Given the description of an element on the screen output the (x, y) to click on. 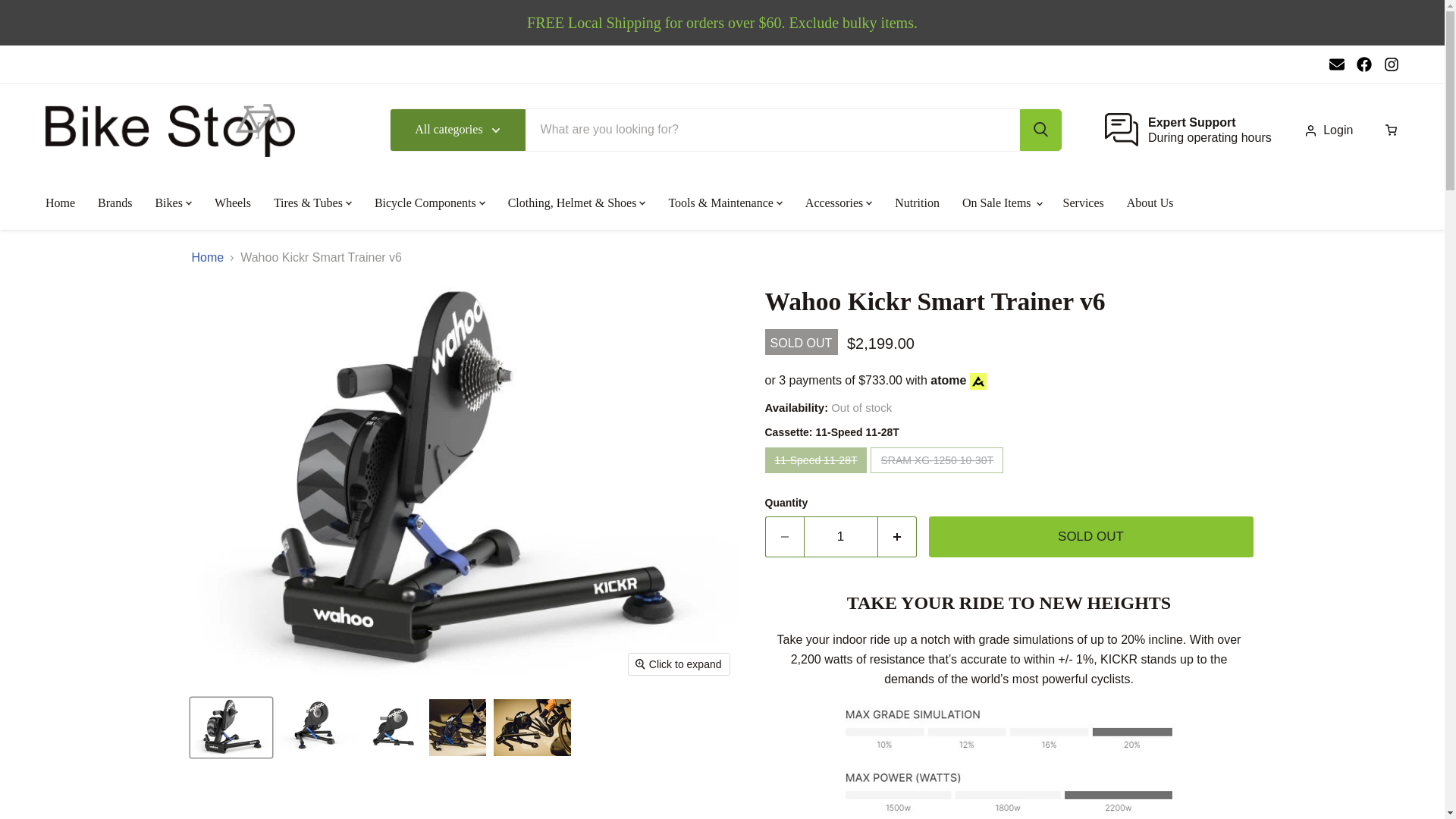
Instagram (1188, 130)
Wheels (1391, 64)
Email (232, 203)
Email Bike Stop (1336, 64)
Find us on Instagram (1336, 64)
Find us on Facebook (1391, 64)
Facebook (1363, 64)
Home (1363, 64)
1 (59, 203)
Brands (840, 536)
Login (113, 203)
View cart (1333, 130)
